Given the description of an element on the screen output the (x, y) to click on. 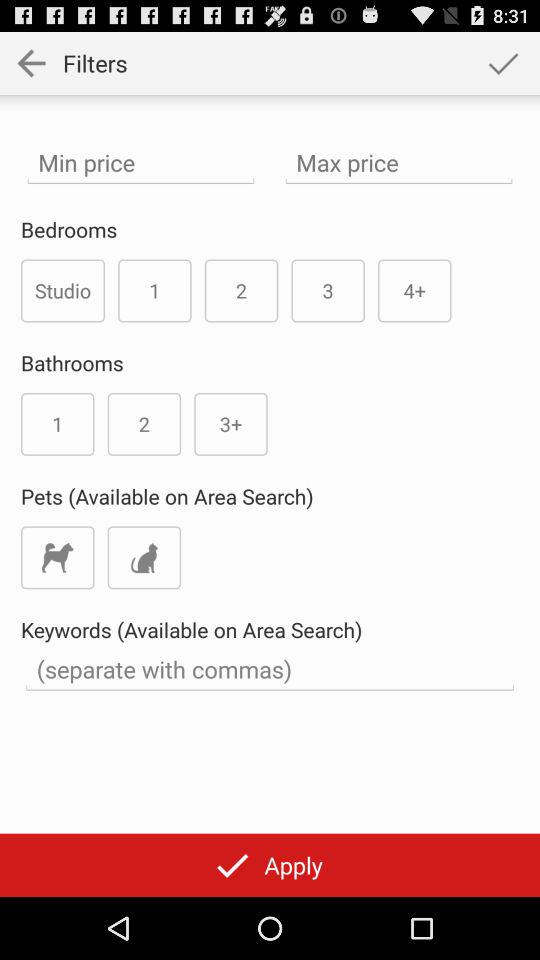
turn on the studio (63, 290)
